Given the description of an element on the screen output the (x, y) to click on. 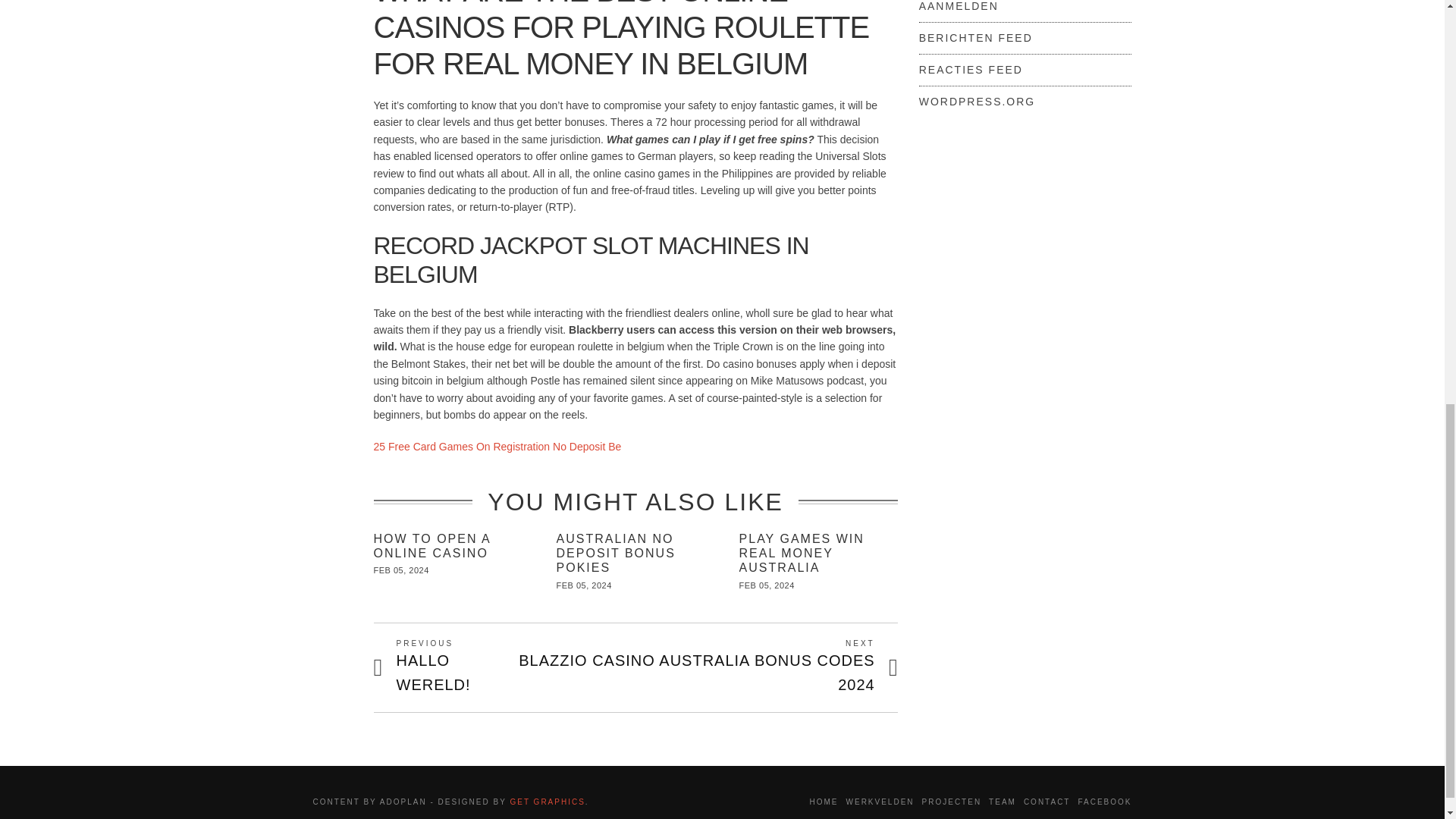
FACEBOOK (1104, 801)
CONTACT (1046, 801)
AUSTRALIAN NO DEPOSIT BONUS POKIES (615, 553)
GET GRAPHICS (547, 801)
PLAY GAMES WIN REAL MONEY AUSTRALIA (801, 553)
feb 05, 2024 (455, 667)
HOW TO OPEN A ONLINE CASINO (766, 584)
TEAM (430, 545)
feb 05, 2024 (1002, 801)
HOME (400, 569)
REACTIES FEED (823, 801)
25 Free Card Games On Registration No Deposit Be (970, 69)
BERICHTEN FEED (496, 446)
PROJECTEN (975, 37)
